Given the description of an element on the screen output the (x, y) to click on. 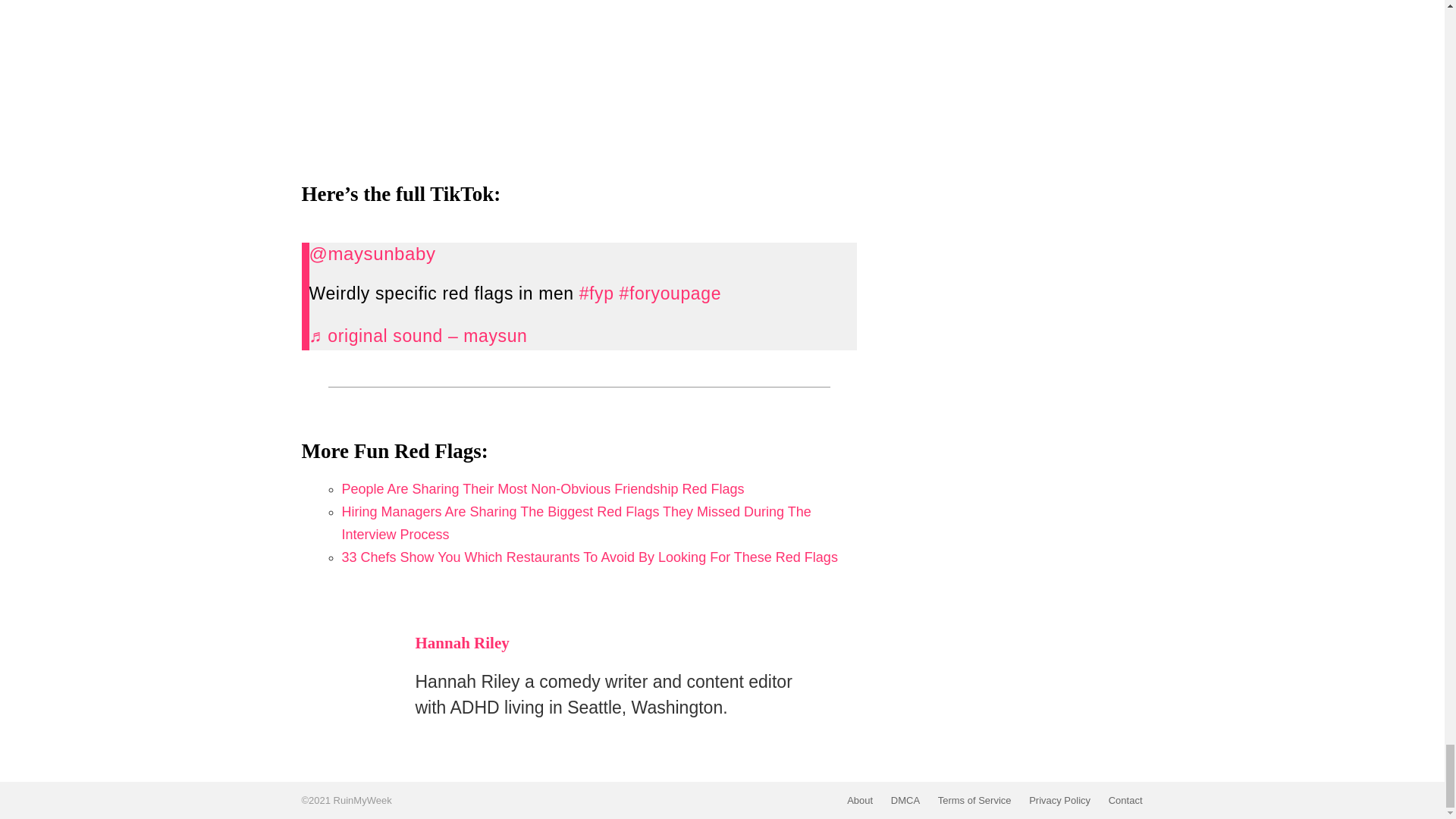
Privacy Policy (1059, 800)
About (860, 800)
foryoupage (670, 293)
fyp (596, 293)
Hannah Riley (461, 642)
DMCA (905, 800)
Terms of Service (974, 800)
